Given the description of an element on the screen output the (x, y) to click on. 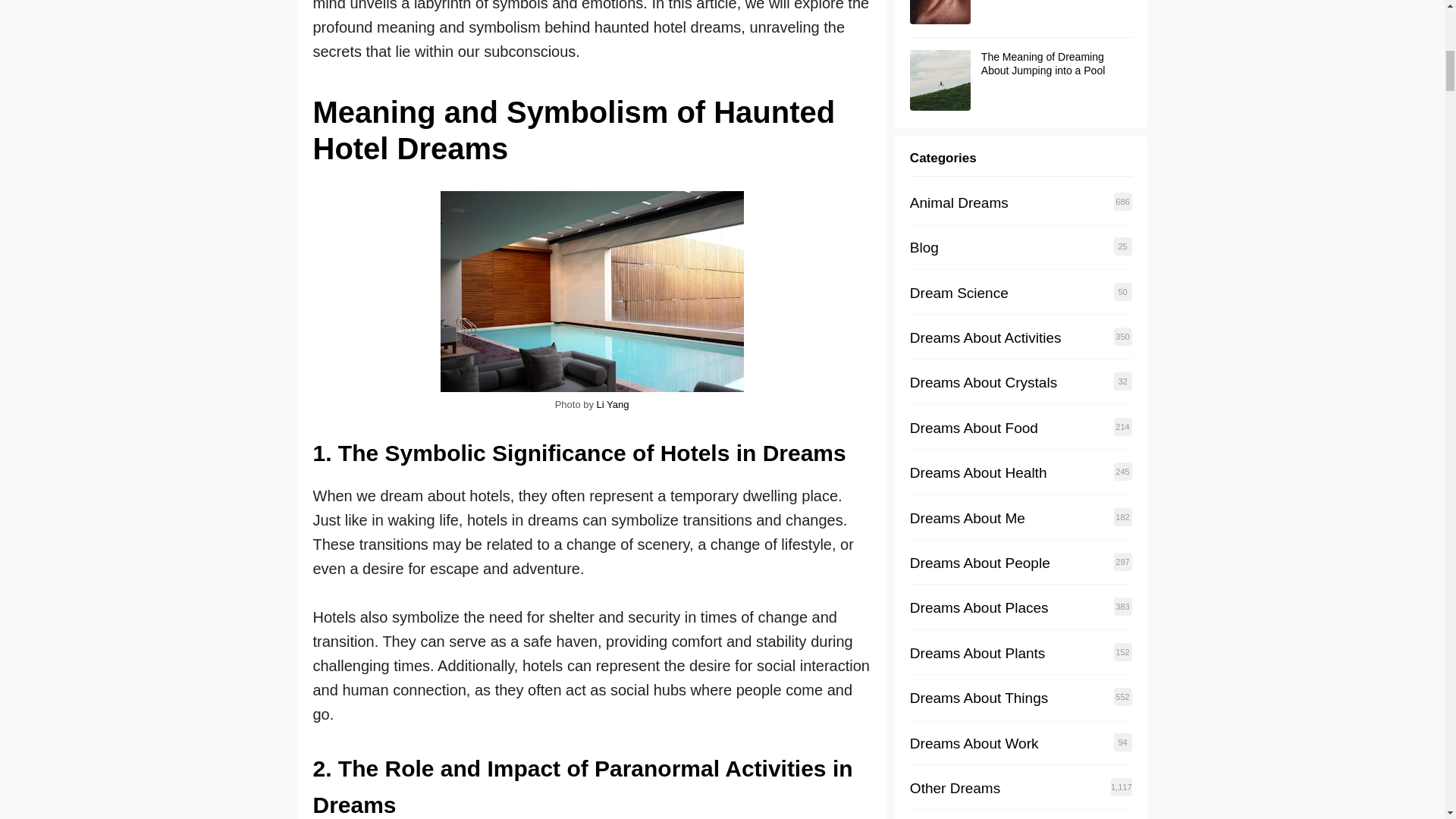
Li Yang (612, 404)
